Given the description of an element on the screen output the (x, y) to click on. 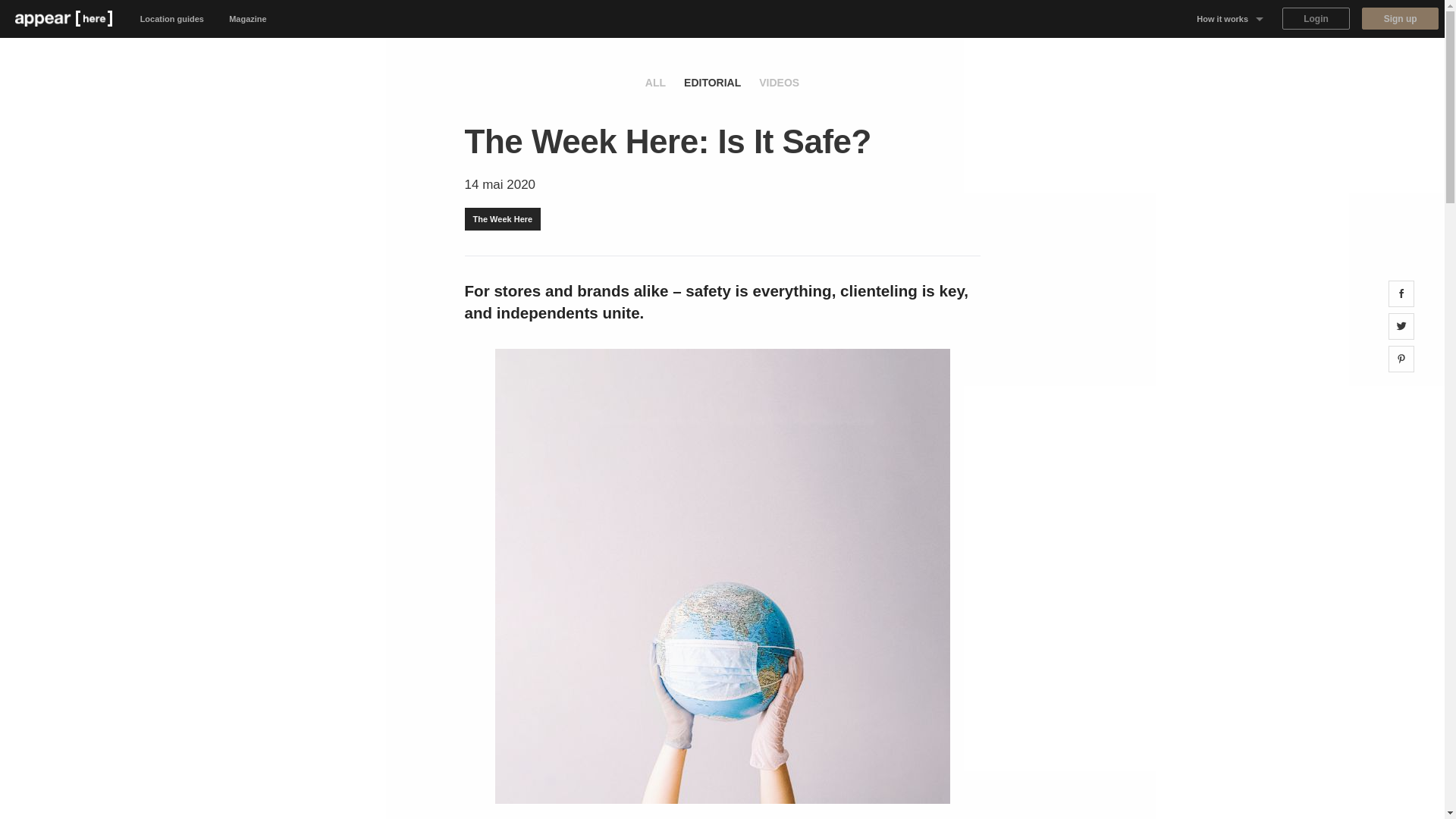
Magazine (247, 18)
How it works (1230, 18)
Why Appear Here (1230, 56)
Location guides (172, 18)
